Given the description of an element on the screen output the (x, y) to click on. 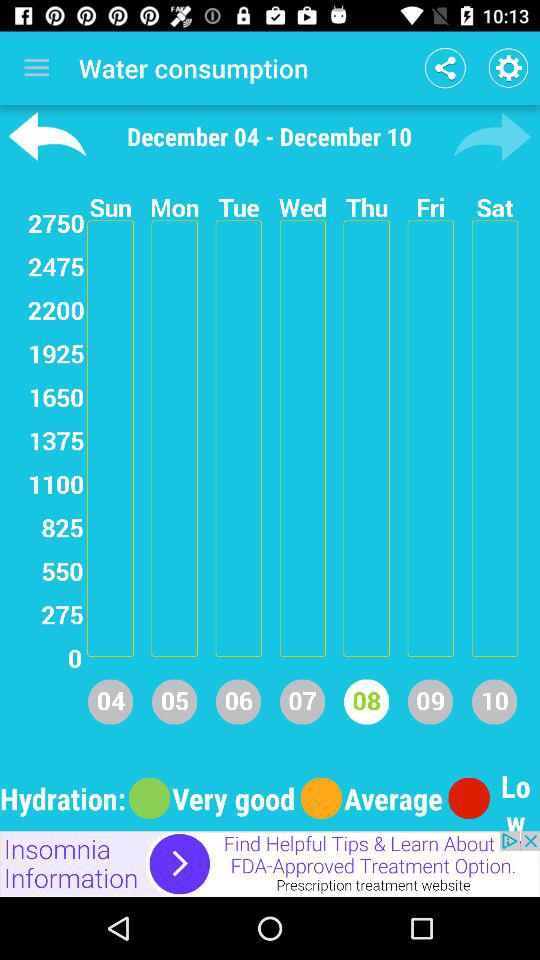
go forward (492, 136)
